Given the description of an element on the screen output the (x, y) to click on. 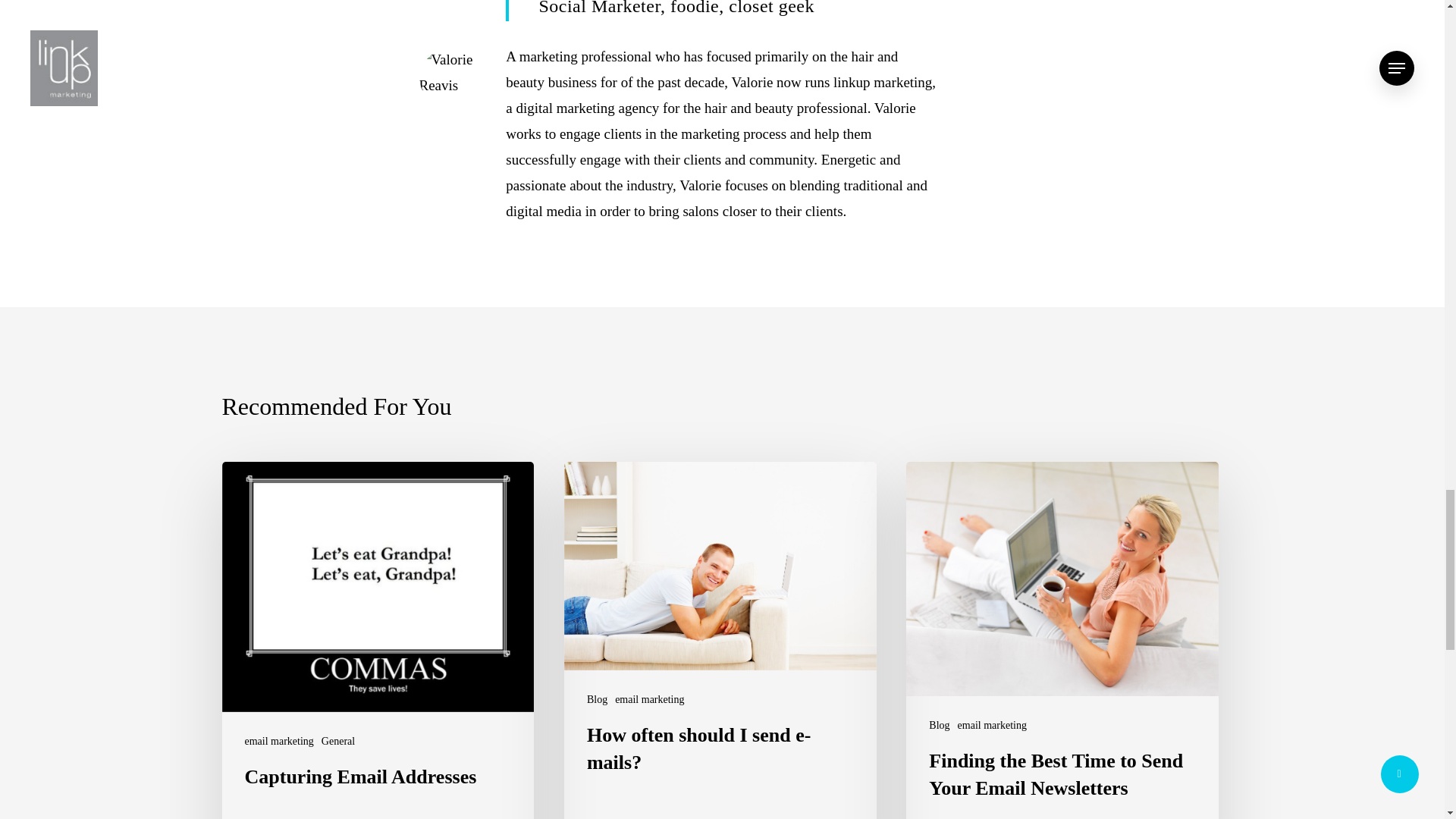
Blog (938, 725)
email marketing (278, 740)
email marketing (649, 699)
email marketing (992, 725)
General (338, 740)
Blog (596, 699)
